Given the description of an element on the screen output the (x, y) to click on. 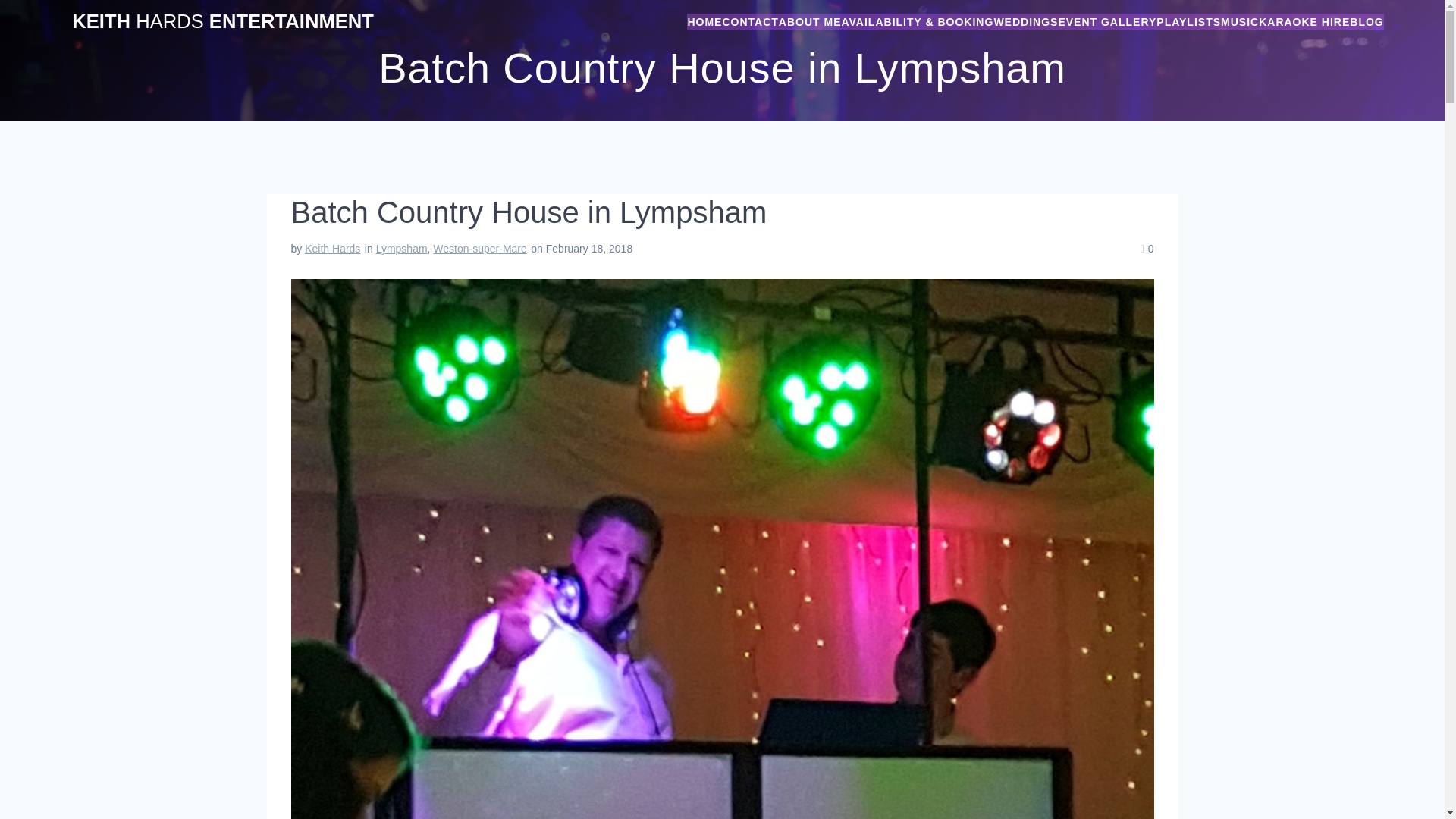
Book online, instant quote (916, 21)
BLOG (1366, 21)
Lympsham (401, 248)
KEITH HARDS ENTERTAINMENT (222, 21)
Posts by Keith Hards (331, 248)
PLAYLISTS (1188, 21)
HOME (704, 21)
CONTACT (749, 21)
KARAOKE HIRE (1304, 21)
Weston-super-Mare (478, 248)
WEDDINGS (1025, 21)
Keith Hards (704, 21)
MUSIC (1240, 21)
Keith Hards (331, 248)
EVENT GALLERY (1107, 21)
